Given the description of an element on the screen output the (x, y) to click on. 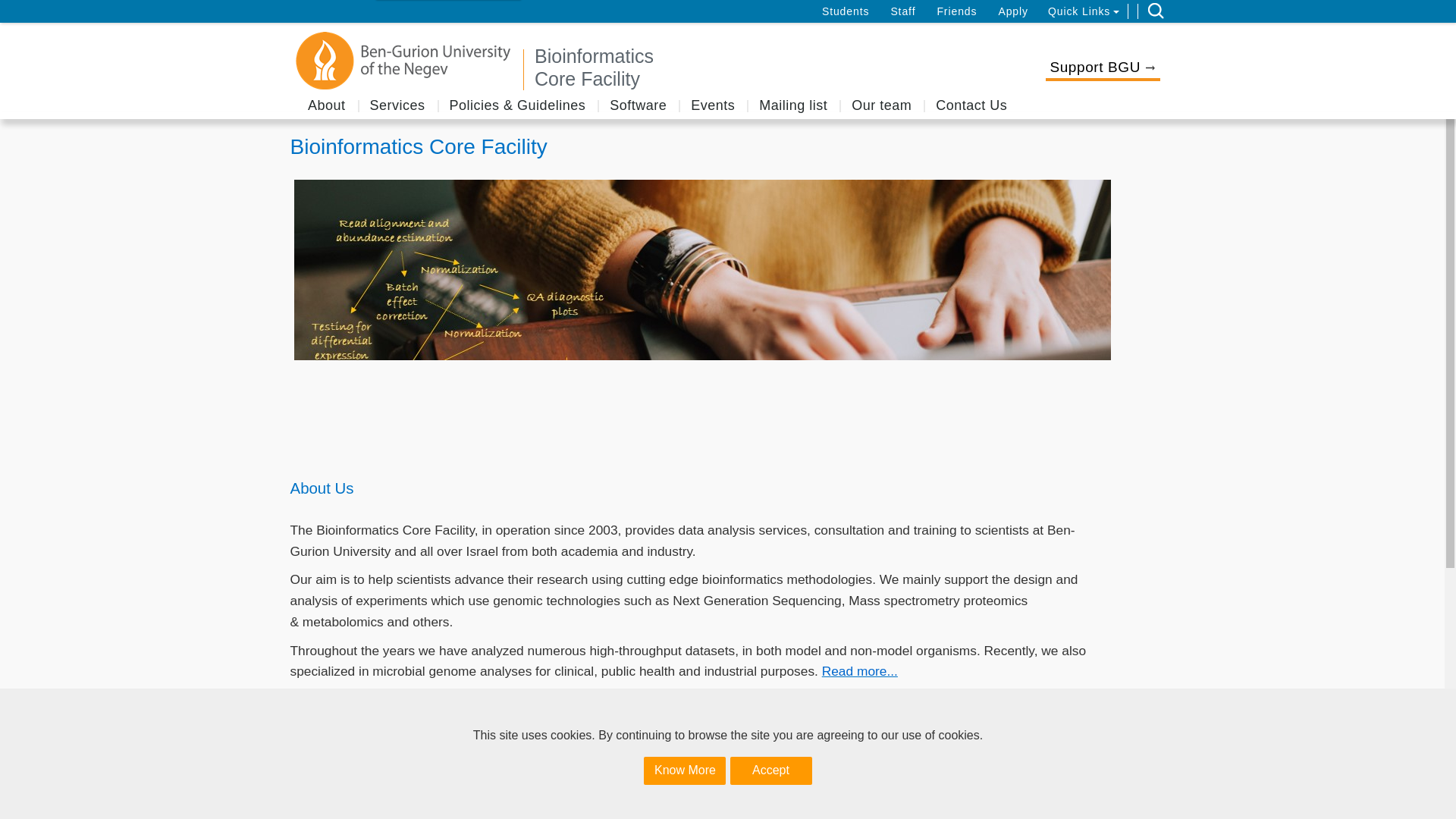
BGU Home Page (404, 60)
Skip to Home Page (750, 67)
Search in site (1155, 10)
Sign In (23, 11)
